Given the description of an element on the screen output the (x, y) to click on. 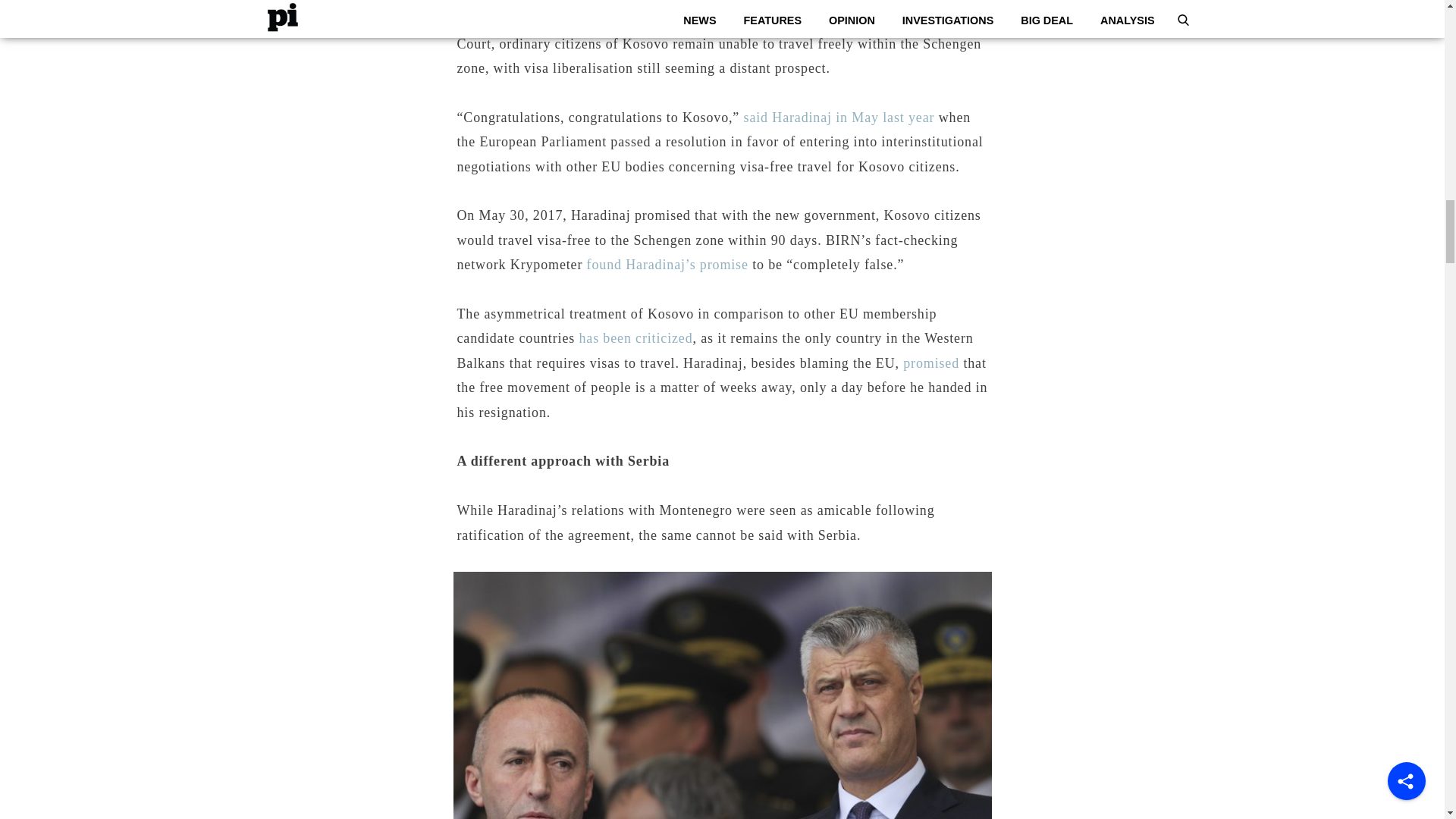
promised (930, 363)
has been criticized (635, 337)
said Haradinaj in May last year (839, 117)
